Given the description of an element on the screen output the (x, y) to click on. 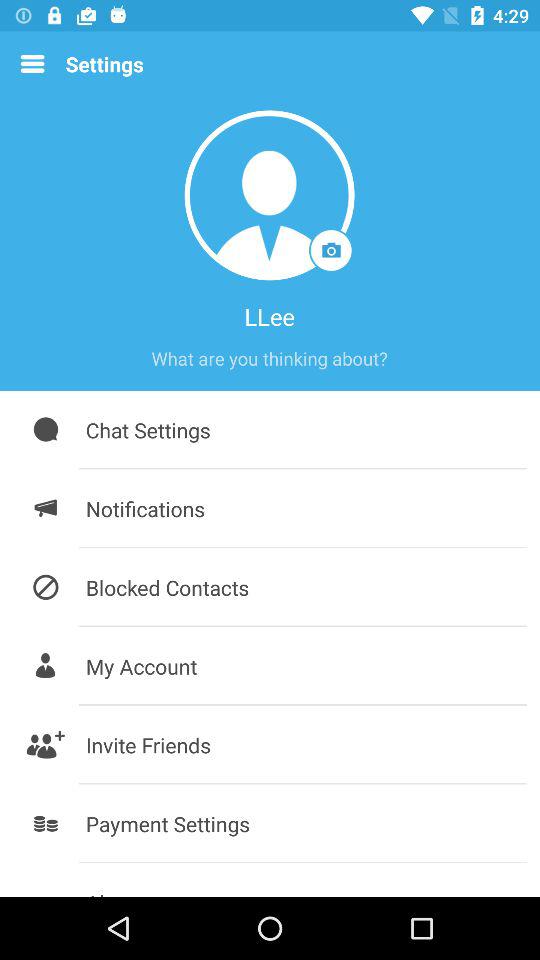
scroll to llee icon (269, 316)
